Given the description of an element on the screen output the (x, y) to click on. 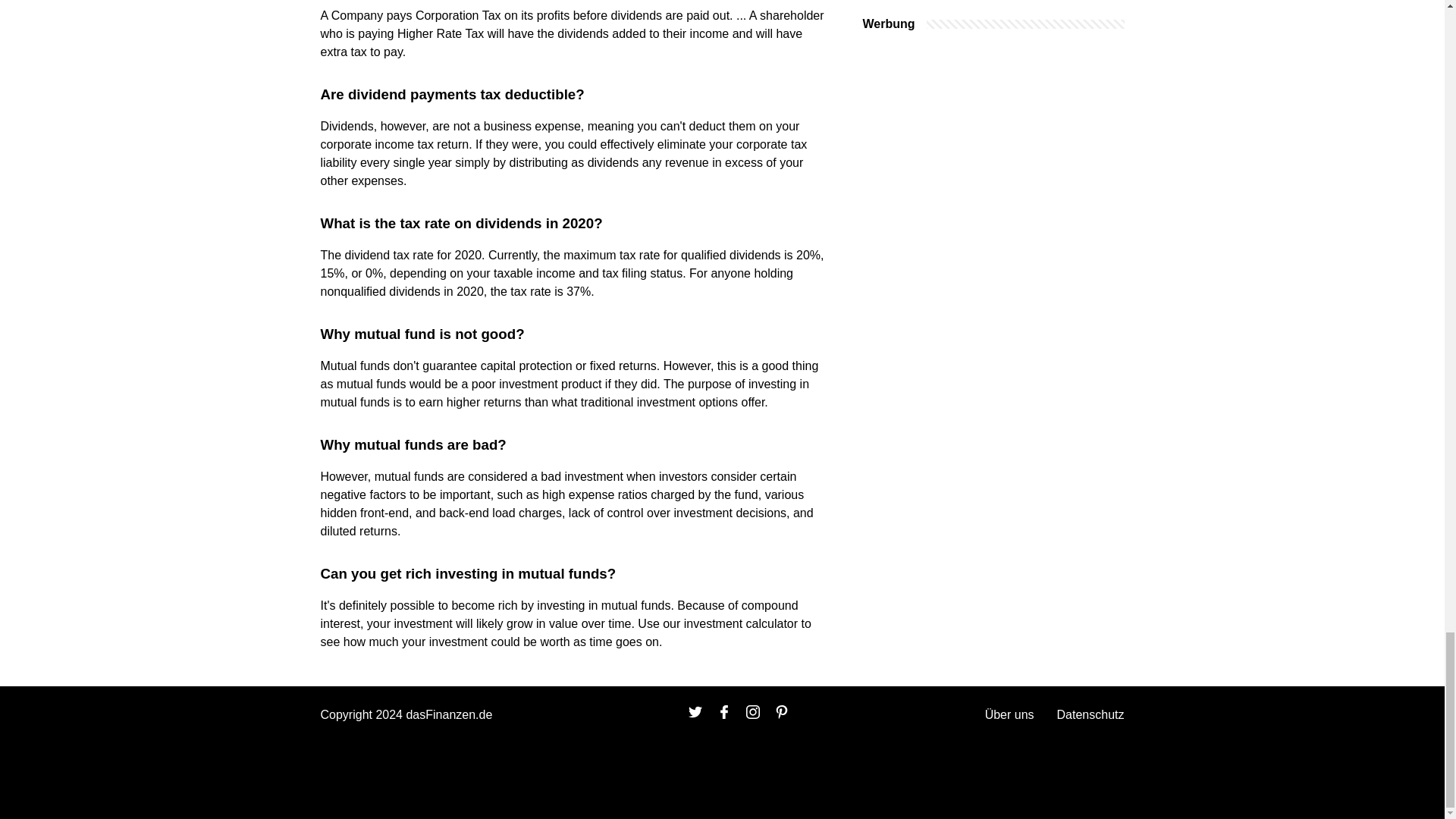
Datenschutz (1090, 714)
